Given the description of an element on the screen output the (x, y) to click on. 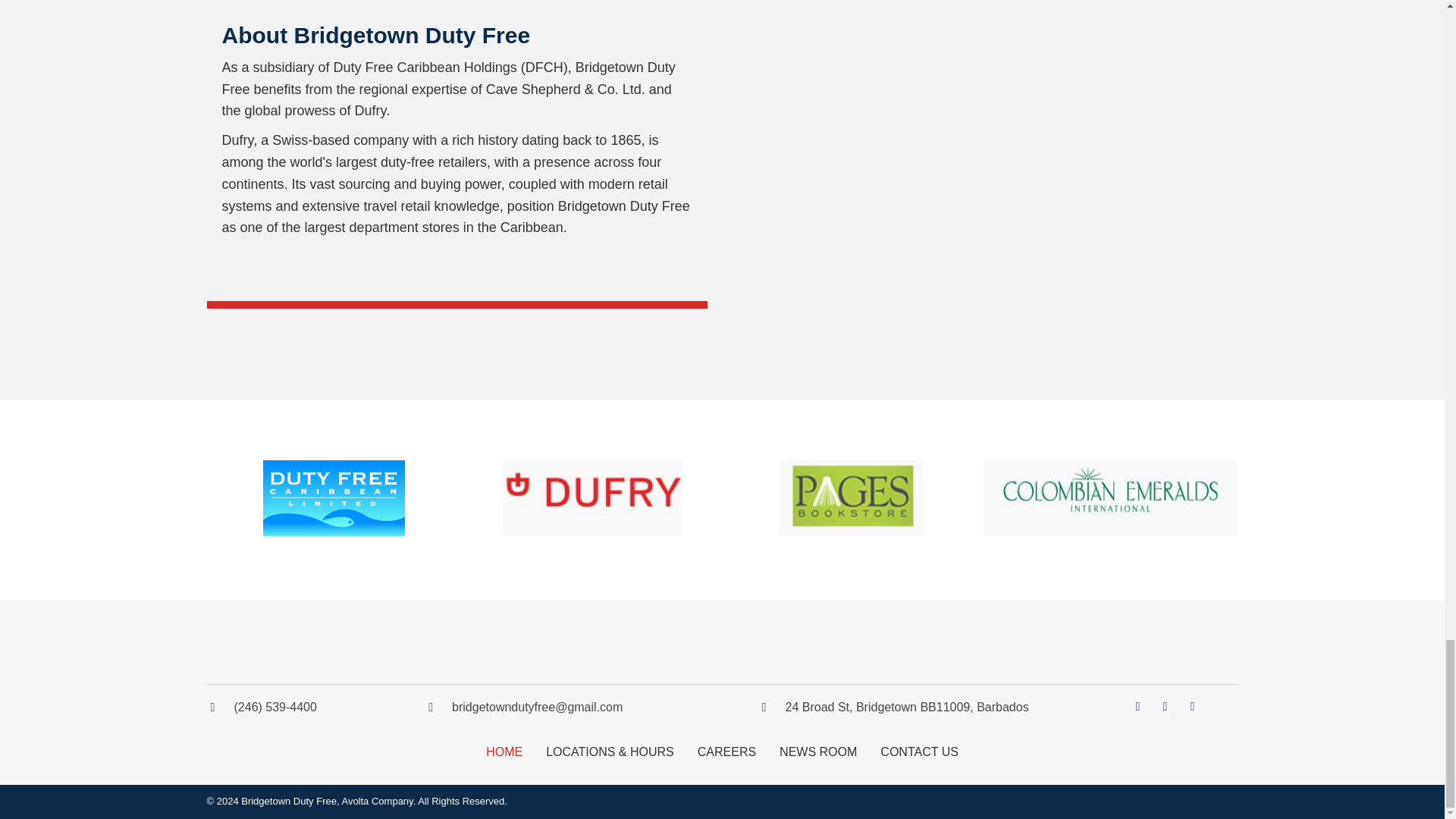
24 Broad St, Bridgetown BB11009, Barbados (907, 707)
HOME (504, 751)
CONTACT US (919, 751)
CAREERS (726, 751)
NEWS ROOM (817, 751)
